Given the description of an element on the screen output the (x, y) to click on. 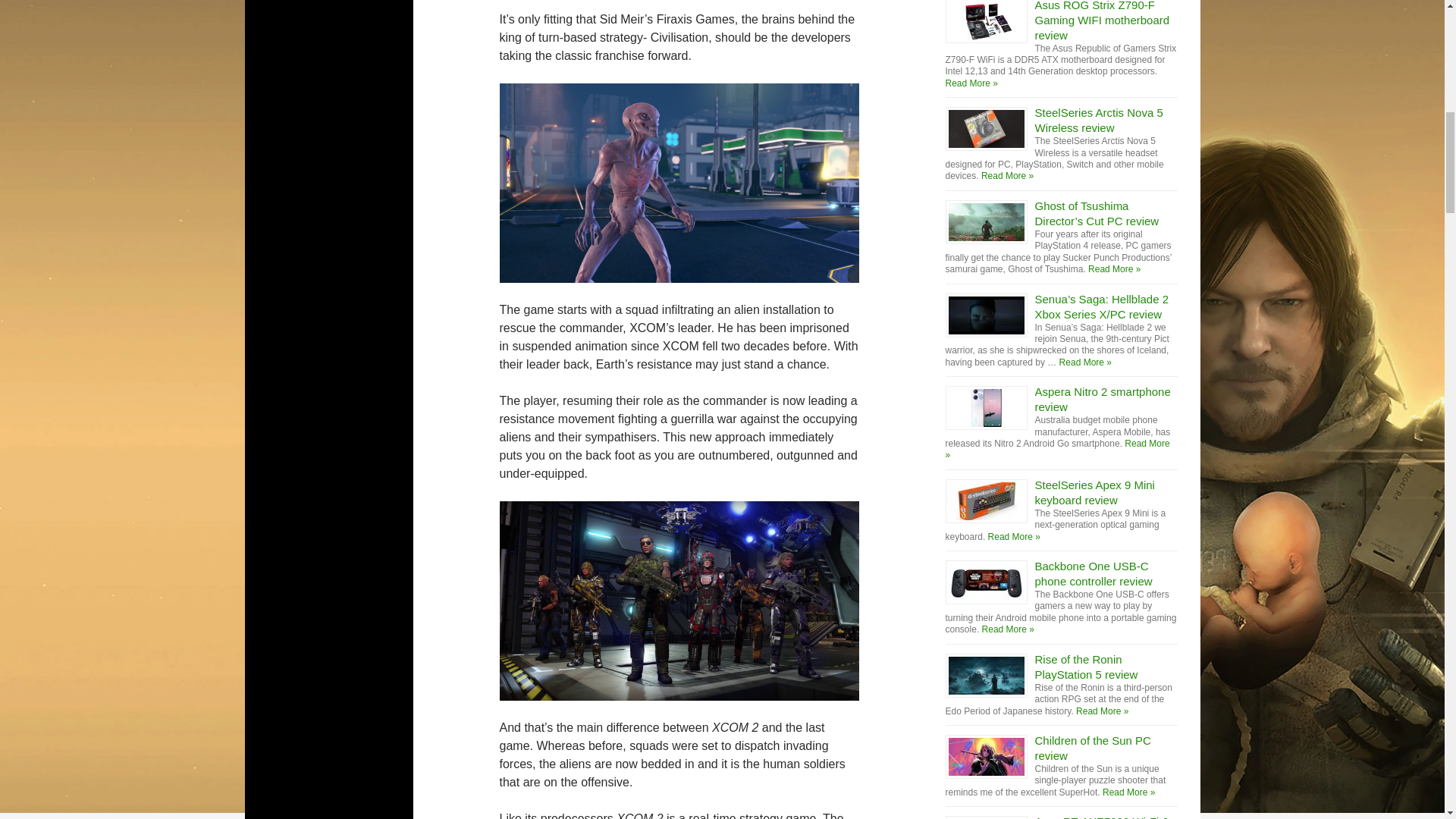
Asus ROG Strix Z790-F Gaming WIFI motherboard review (1102, 20)
